Given the description of an element on the screen output the (x, y) to click on. 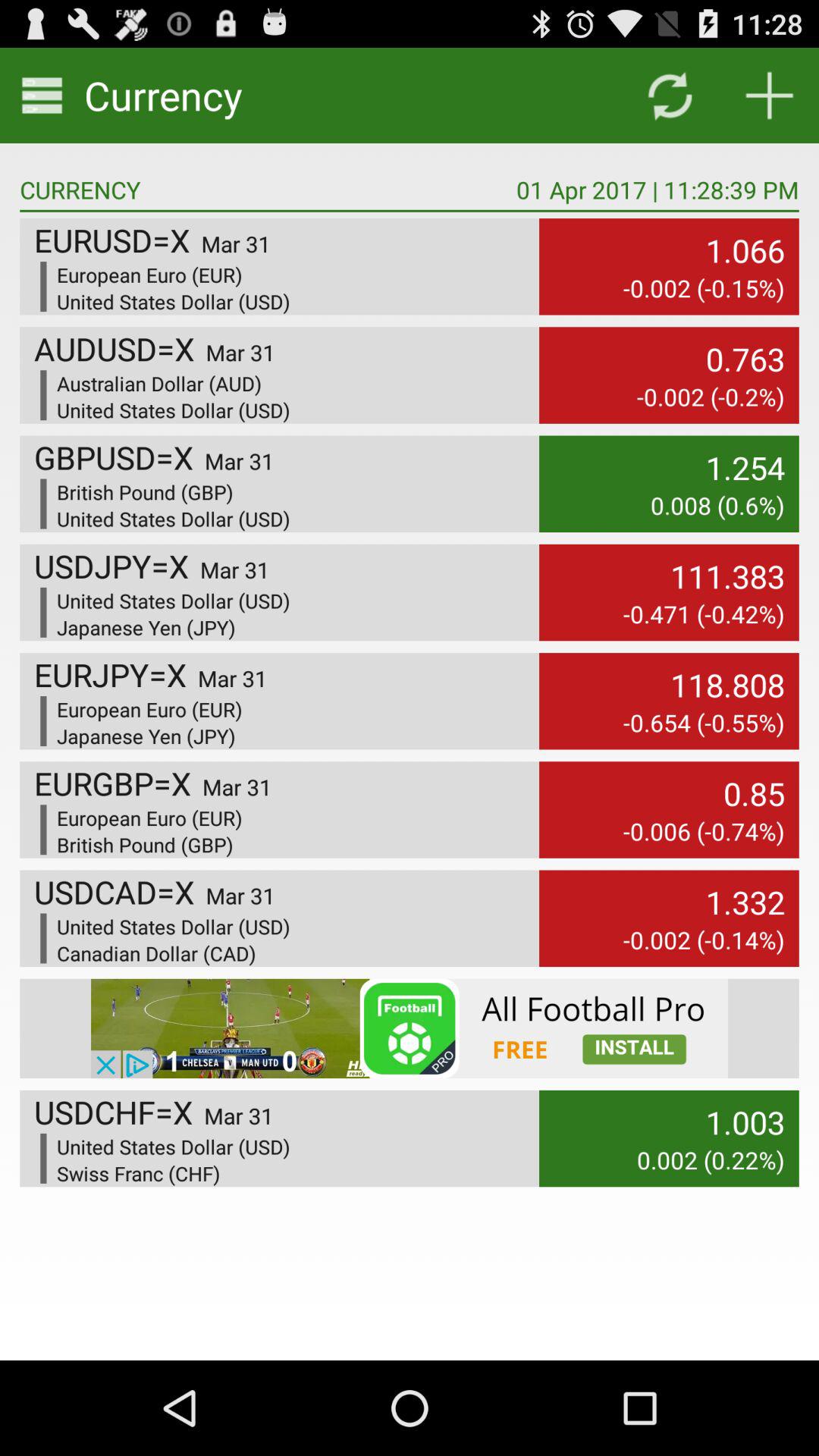
advertisement (409, 1028)
